Given the description of an element on the screen output the (x, y) to click on. 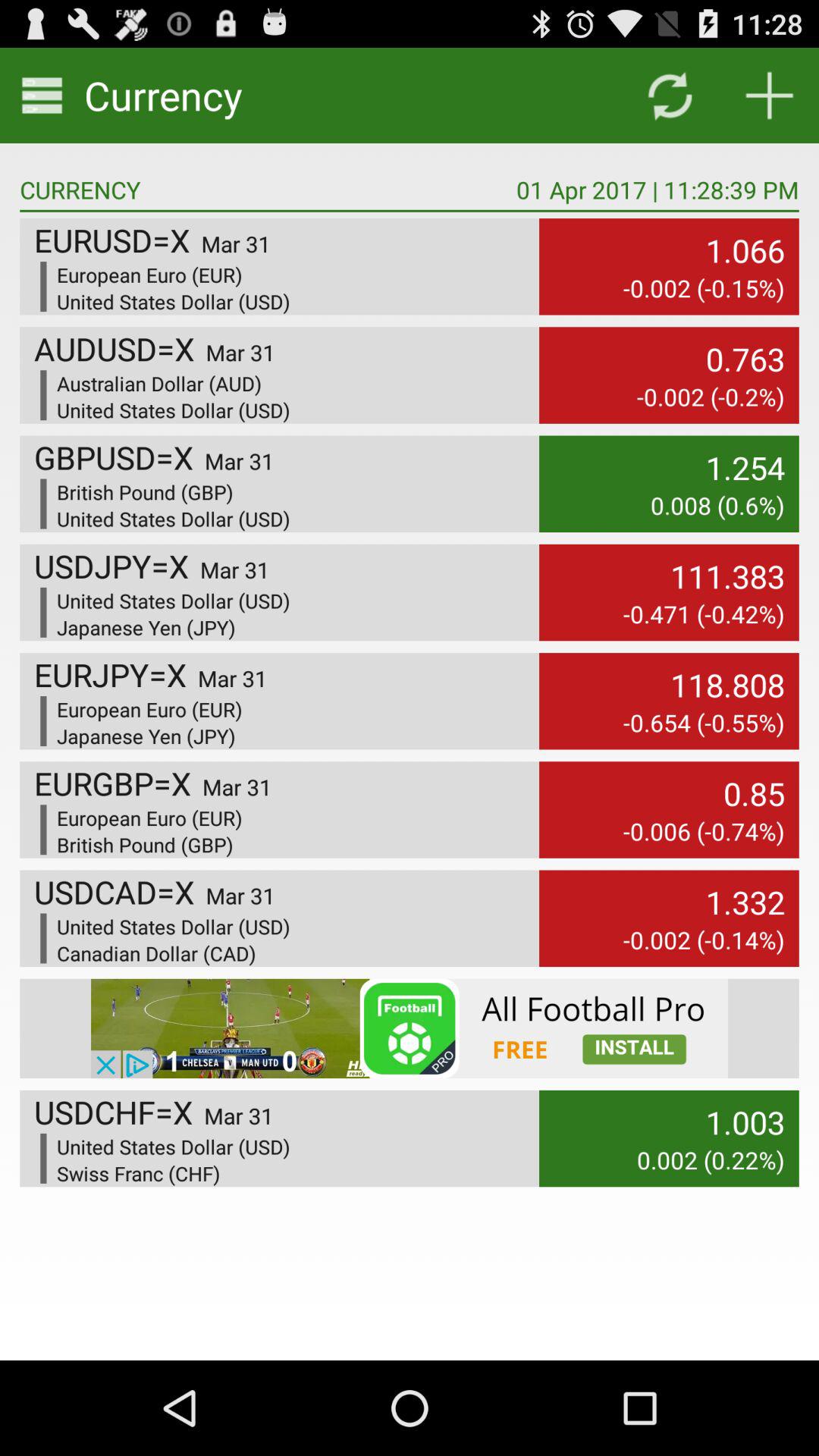
advertisement (409, 1028)
